Given the description of an element on the screen output the (x, y) to click on. 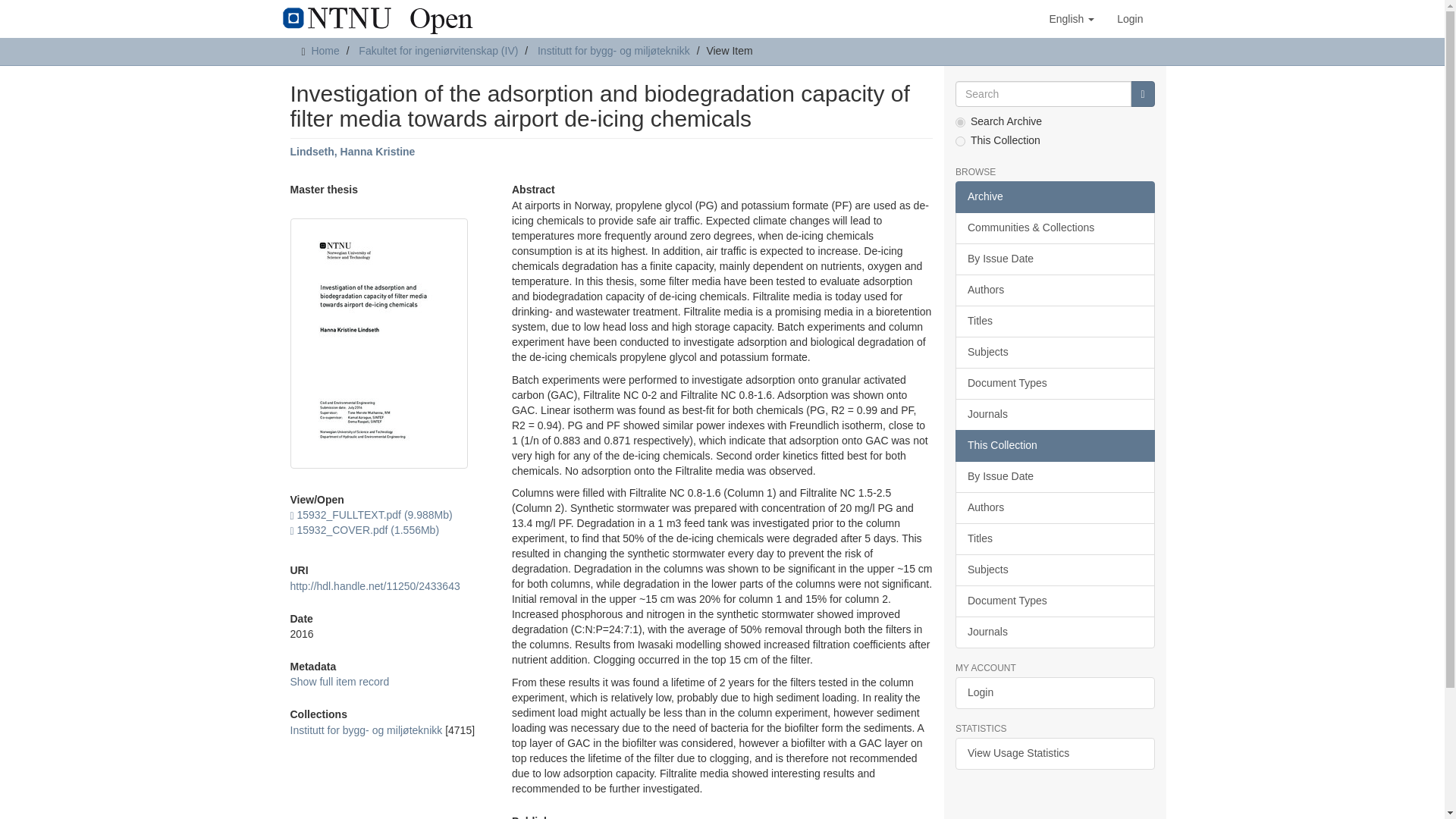
Show full item record (338, 681)
Lindseth, Hanna Kristine (351, 151)
Archive (1054, 196)
Document Types (1054, 383)
Home (325, 50)
By Issue Date (1054, 259)
Go (1142, 94)
Login (1129, 18)
Titles (1054, 321)
English  (1070, 18)
